Given the description of an element on the screen output the (x, y) to click on. 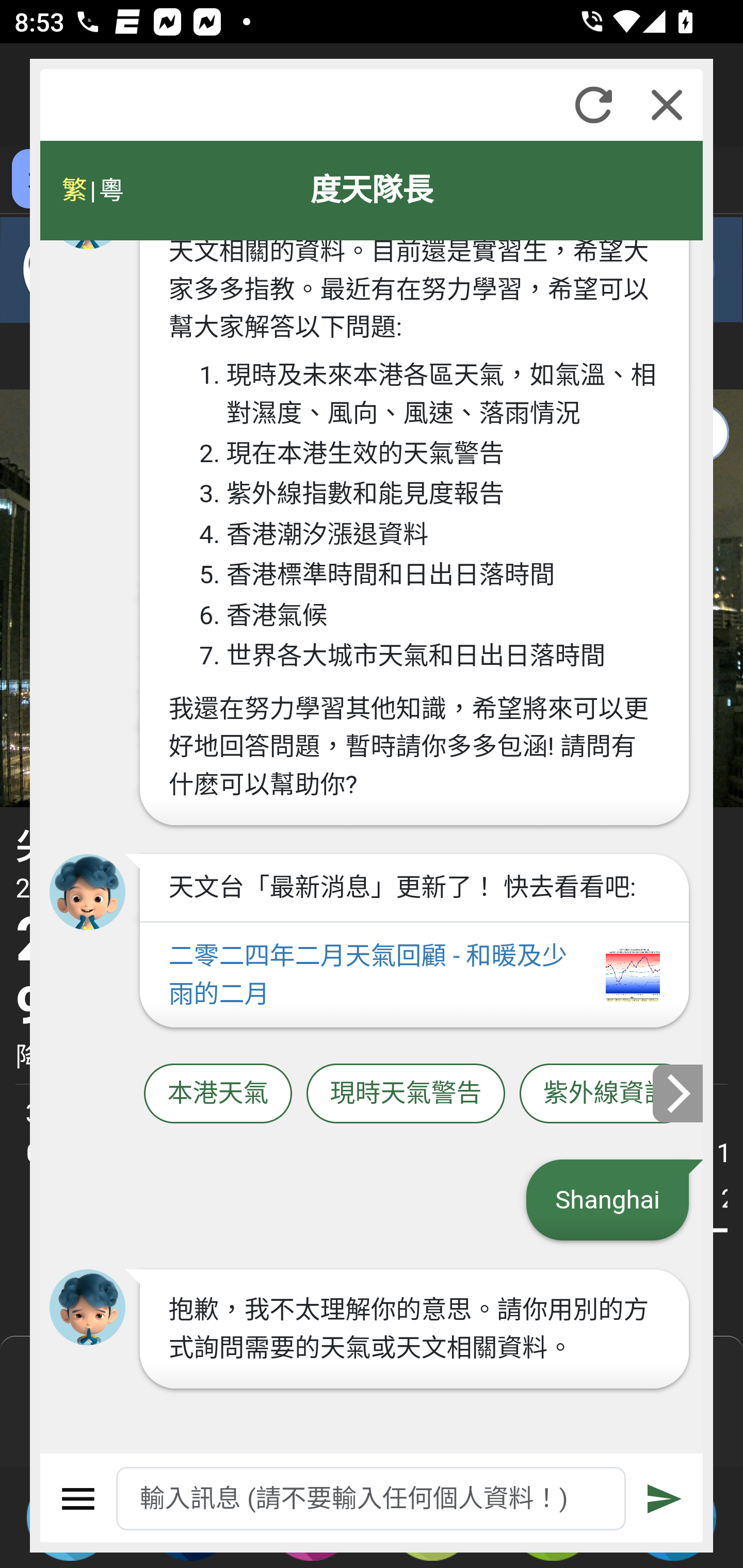
重新整理 (593, 104)
關閉 (666, 104)
繁 (73, 190)
粵 (110, 190)
二零二四年二月天氣回顧 - 和暖及少雨的二月 (413, 974)
本港天氣 (217, 1093)
現時天氣警告 (405, 1093)
紫外線資訊 (605, 1093)
下一張 (678, 1092)
選單 (78, 1498)
遞交 (665, 1498)
